Given the description of an element on the screen output the (x, y) to click on. 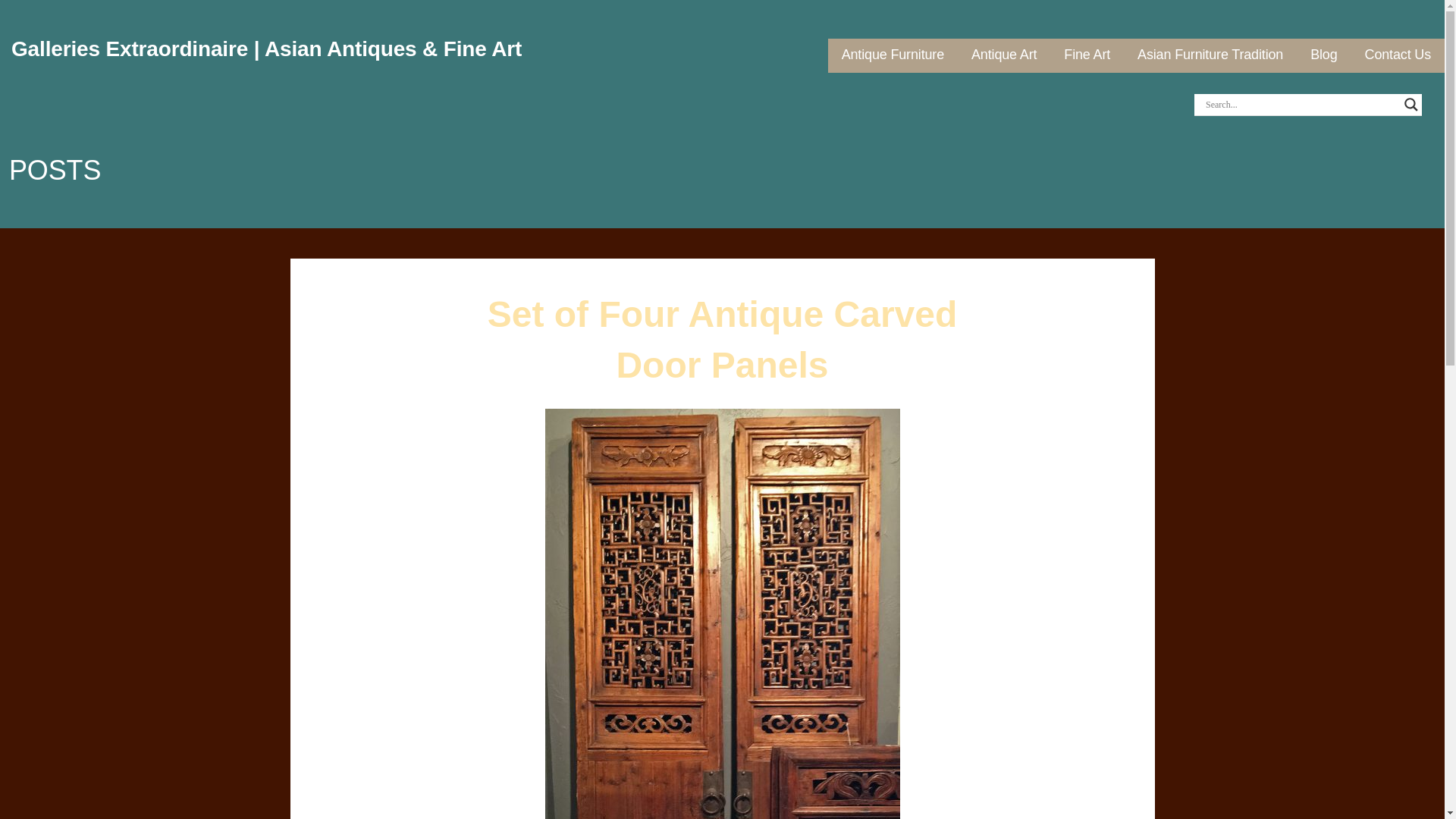
Fine Art (1086, 55)
Contact Us (1398, 55)
Antique Art (1003, 55)
Asian Furniture Tradition (1209, 55)
Antique Furniture (892, 55)
